Given the description of an element on the screen output the (x, y) to click on. 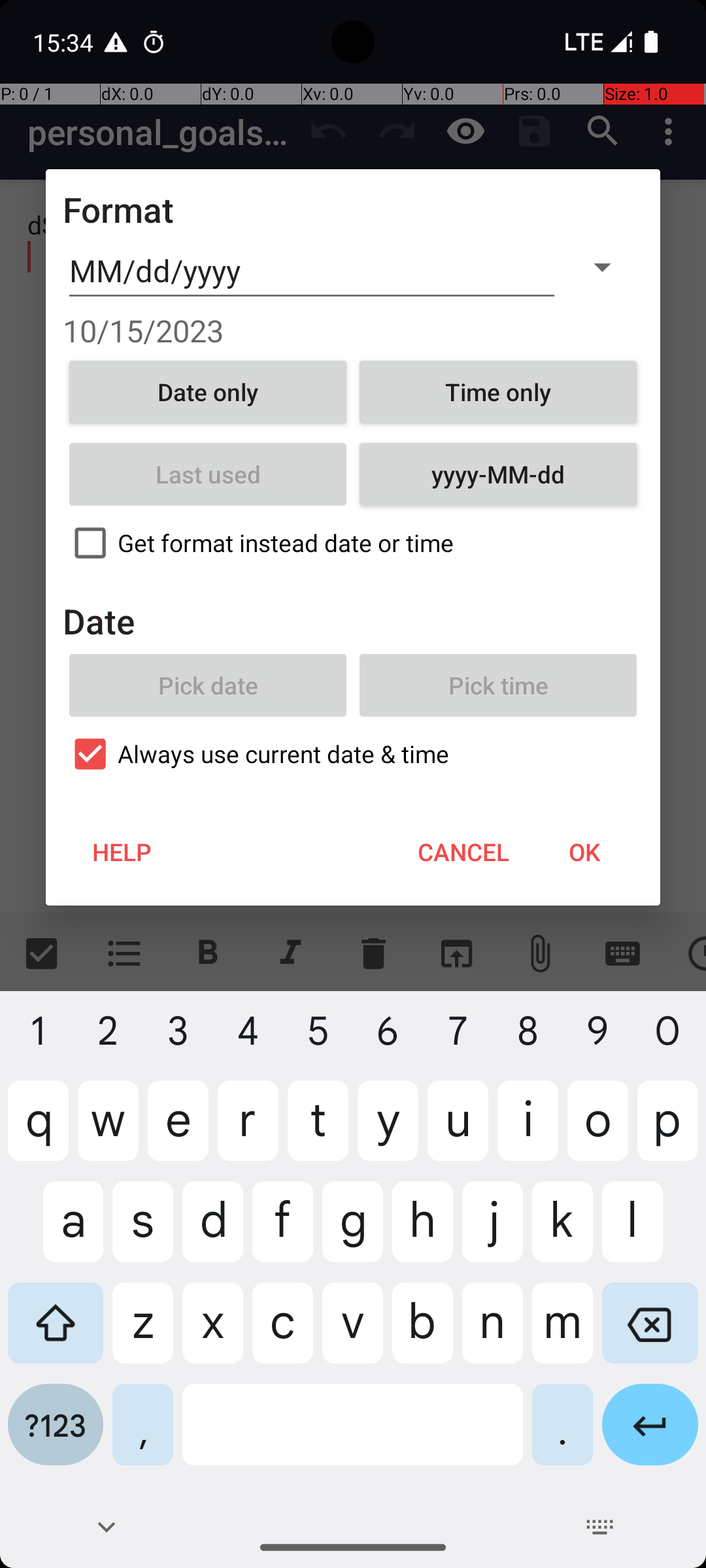
Format Element type: android.widget.TextView (118, 209)
MM/dd/yyyy Element type: android.widget.EditText (311, 270)
Choose format Element type: android.widget.TextView (601, 266)
10/15/2023 Element type: android.widget.TextView (352, 329)
Date only Element type: android.widget.Button (207, 391)
Time only Element type: android.widget.Button (498, 391)
Last used Element type: android.widget.Button (207, 474)
yyyy-MM-dd Element type: android.widget.Button (498, 474)
Get format instead date or time Element type: android.widget.CheckBox (352, 542)
Pick date Element type: android.widget.Button (207, 685)
Pick time Element type: android.widget.Button (498, 685)
Always use current date & time Element type: android.widget.CheckBox (352, 753)
HELP Element type: android.widget.Button (121, 851)
